Given the description of an element on the screen output the (x, y) to click on. 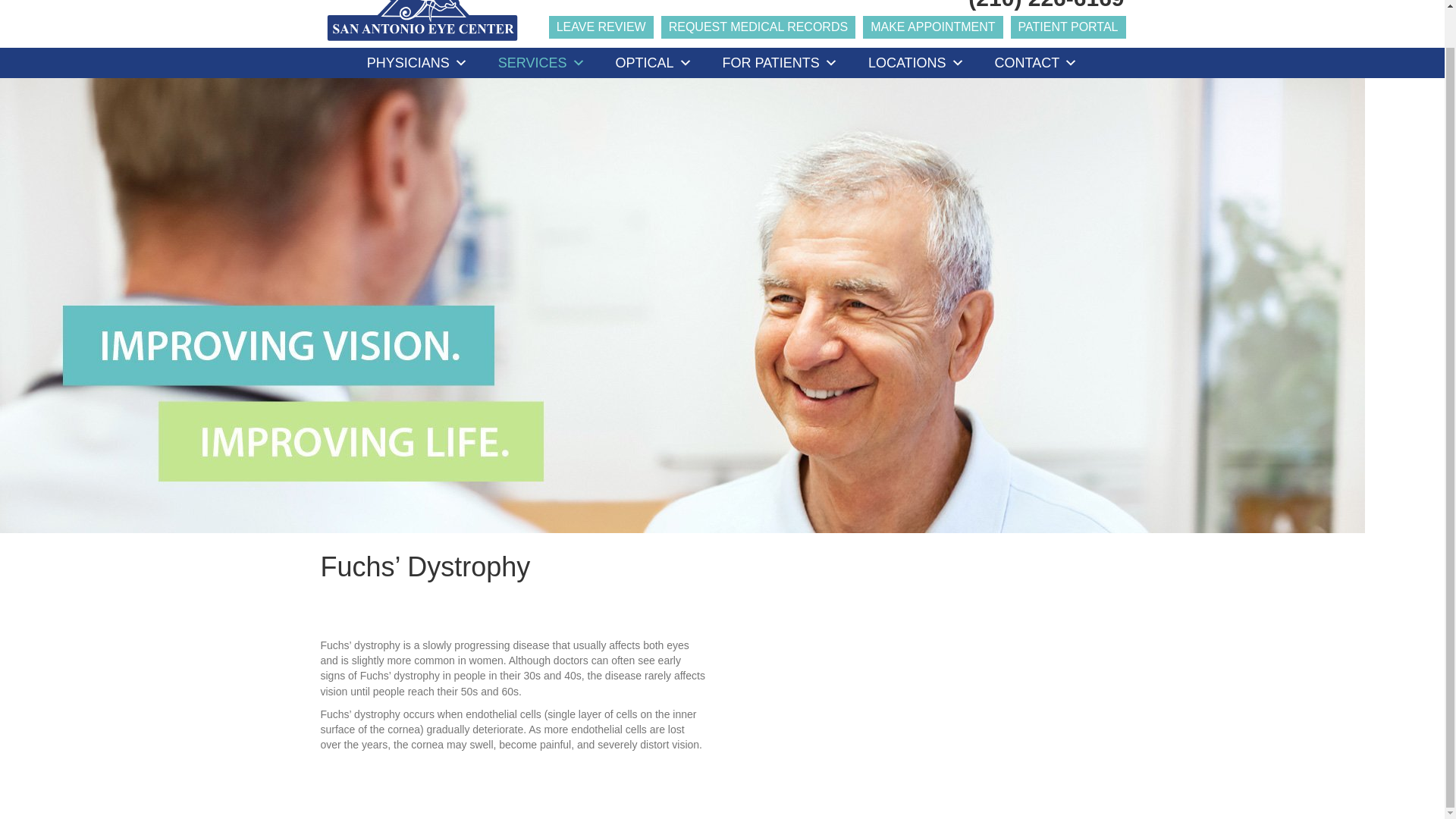
REQUEST MEDICAL RECORDS (758, 27)
MAKE APPOINTMENT (932, 27)
PHYSICIANS (417, 62)
PATIENT PORTAL (1067, 27)
SERVICES (541, 62)
LEAVE REVIEW (601, 27)
